Given the description of an element on the screen output the (x, y) to click on. 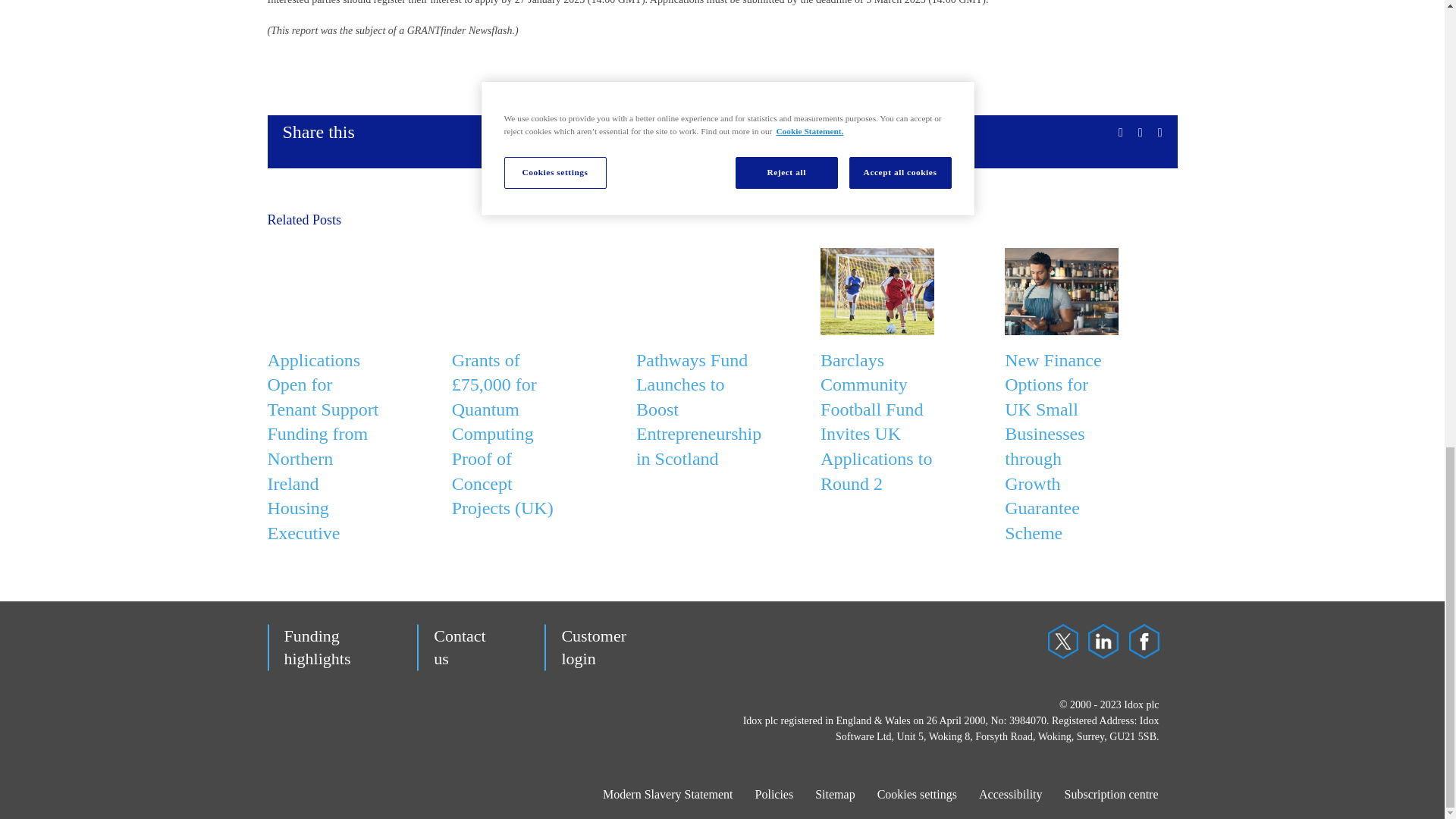
Pathways Fund Launches to Boost Entrepreneurship in Scotland (698, 409)
